Given the description of an element on the screen output the (x, y) to click on. 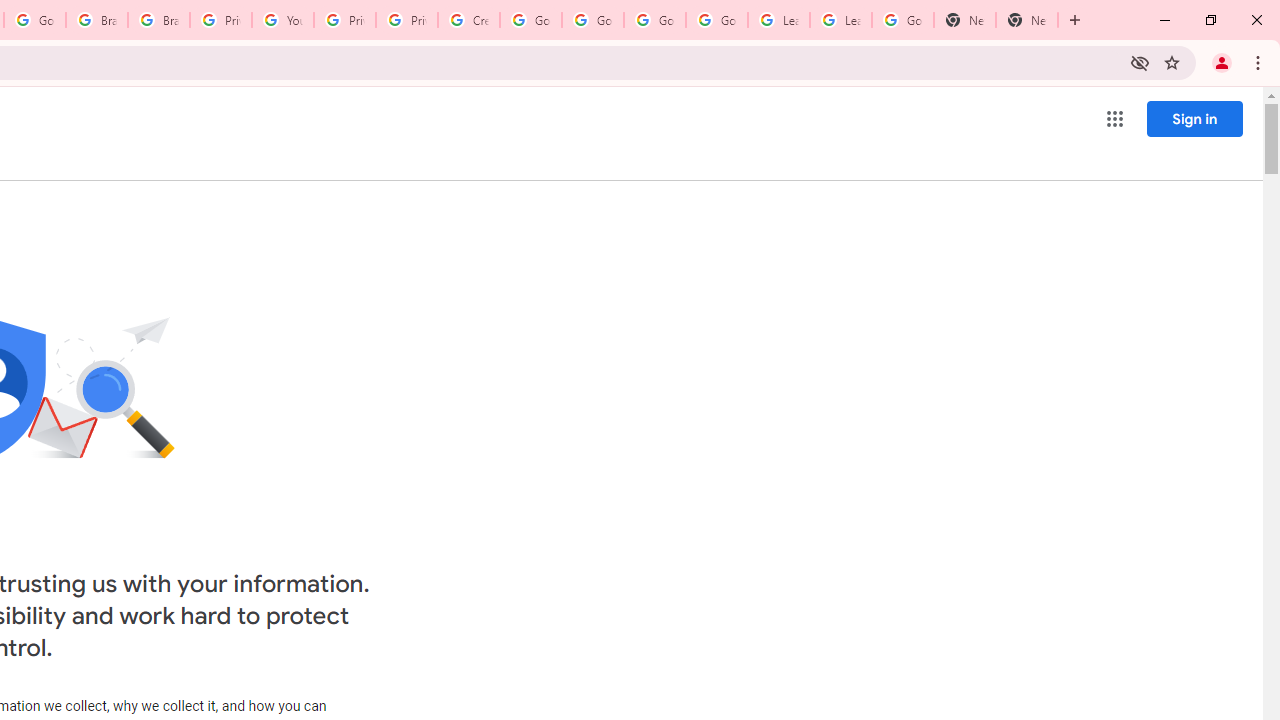
Google Account Help (530, 20)
Google Account (902, 20)
YouTube (282, 20)
